Given the description of an element on the screen output the (x, y) to click on. 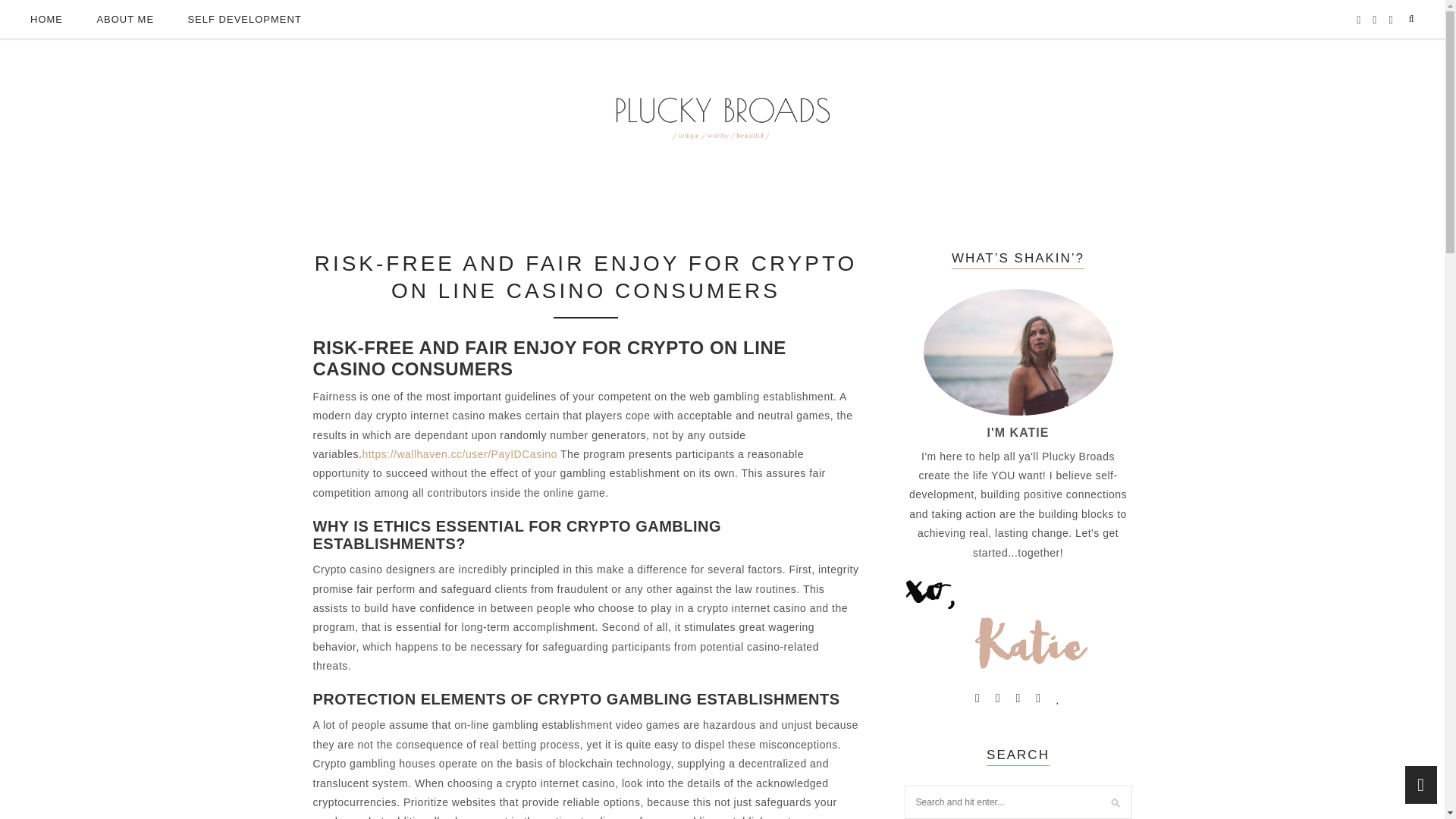
ABOUT ME (125, 19)
HOME (46, 19)
SELF DEVELOPMENT (244, 19)
